Given the description of an element on the screen output the (x, y) to click on. 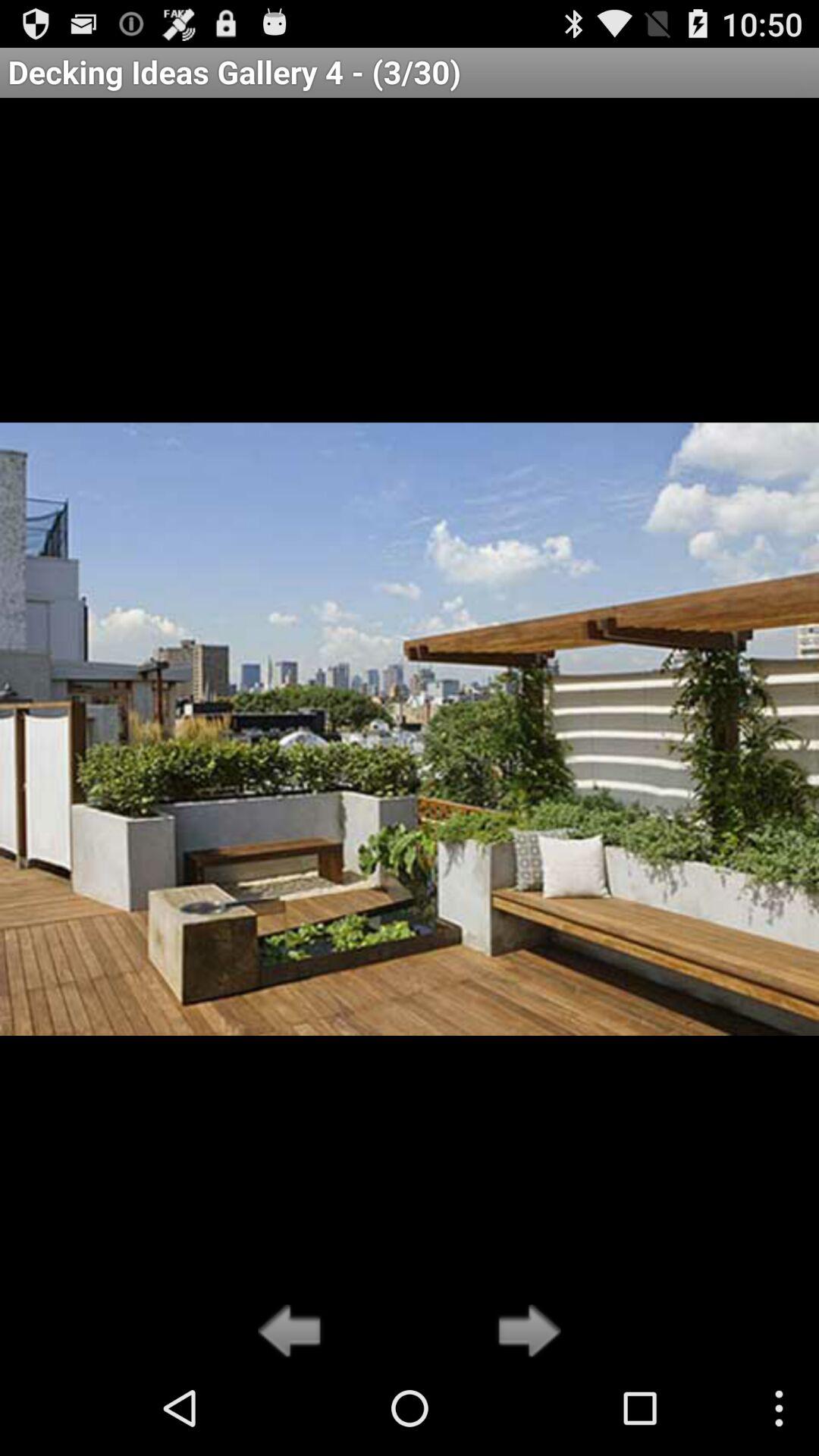
next picture (524, 1332)
